Given the description of an element on the screen output the (x, y) to click on. 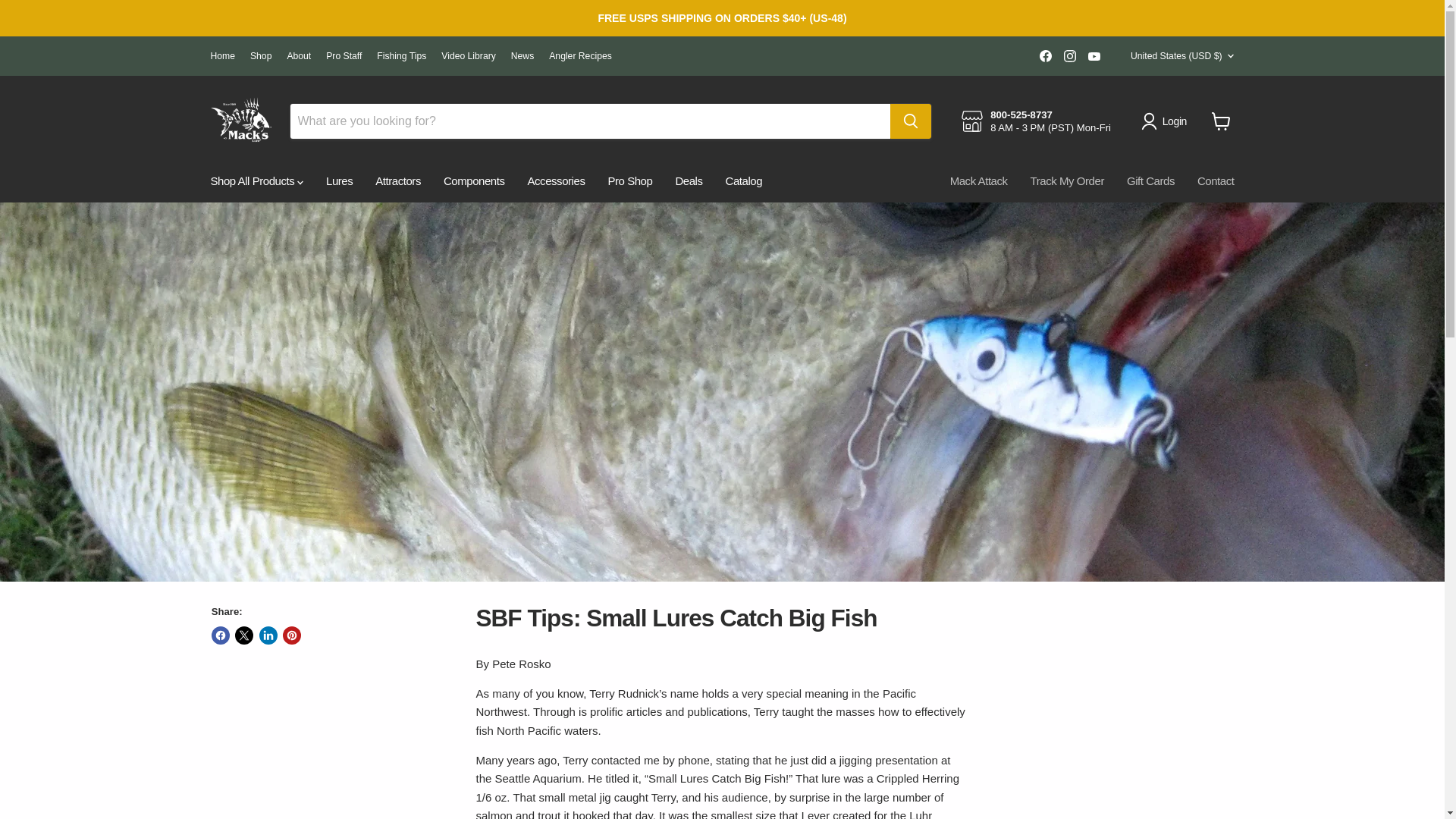
Fishing Tips (401, 55)
About (298, 55)
Find us on Facebook (1046, 55)
Facebook (1046, 55)
Instagram (1069, 55)
News (522, 55)
Shop (260, 55)
Angler Recipes (579, 55)
Pro Staff (343, 55)
YouTube (1094, 55)
Find us on YouTube (1094, 55)
Video Library (468, 55)
Home (222, 55)
Find us on Instagram (1069, 55)
